Given the description of an element on the screen output the (x, y) to click on. 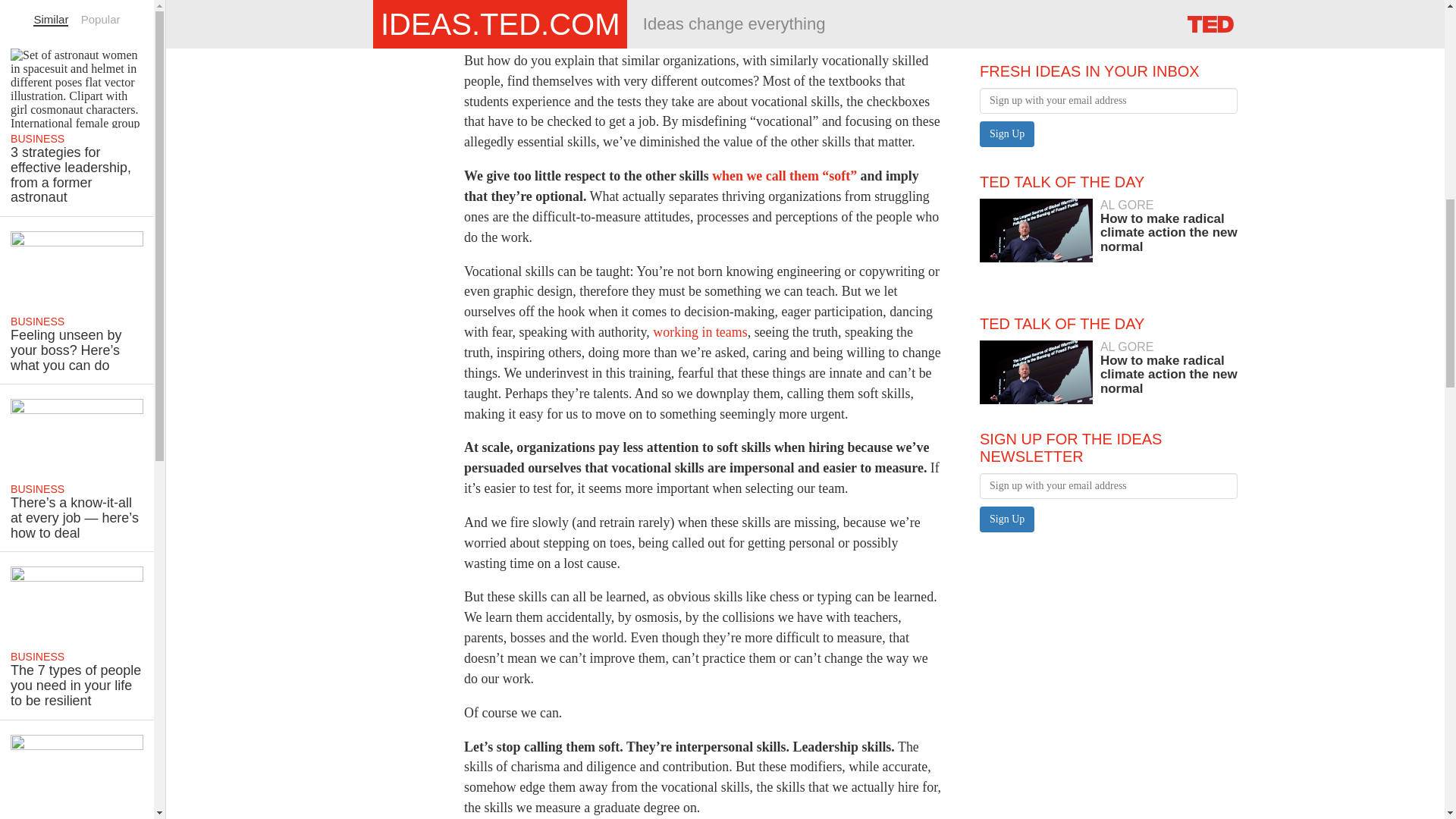
Sign Up (1006, 519)
3rd party ad content (1093, 9)
Sign Up (1006, 134)
Sign Up (1108, 368)
working in teams (1006, 134)
Sign Up (699, 331)
